Given the description of an element on the screen output the (x, y) to click on. 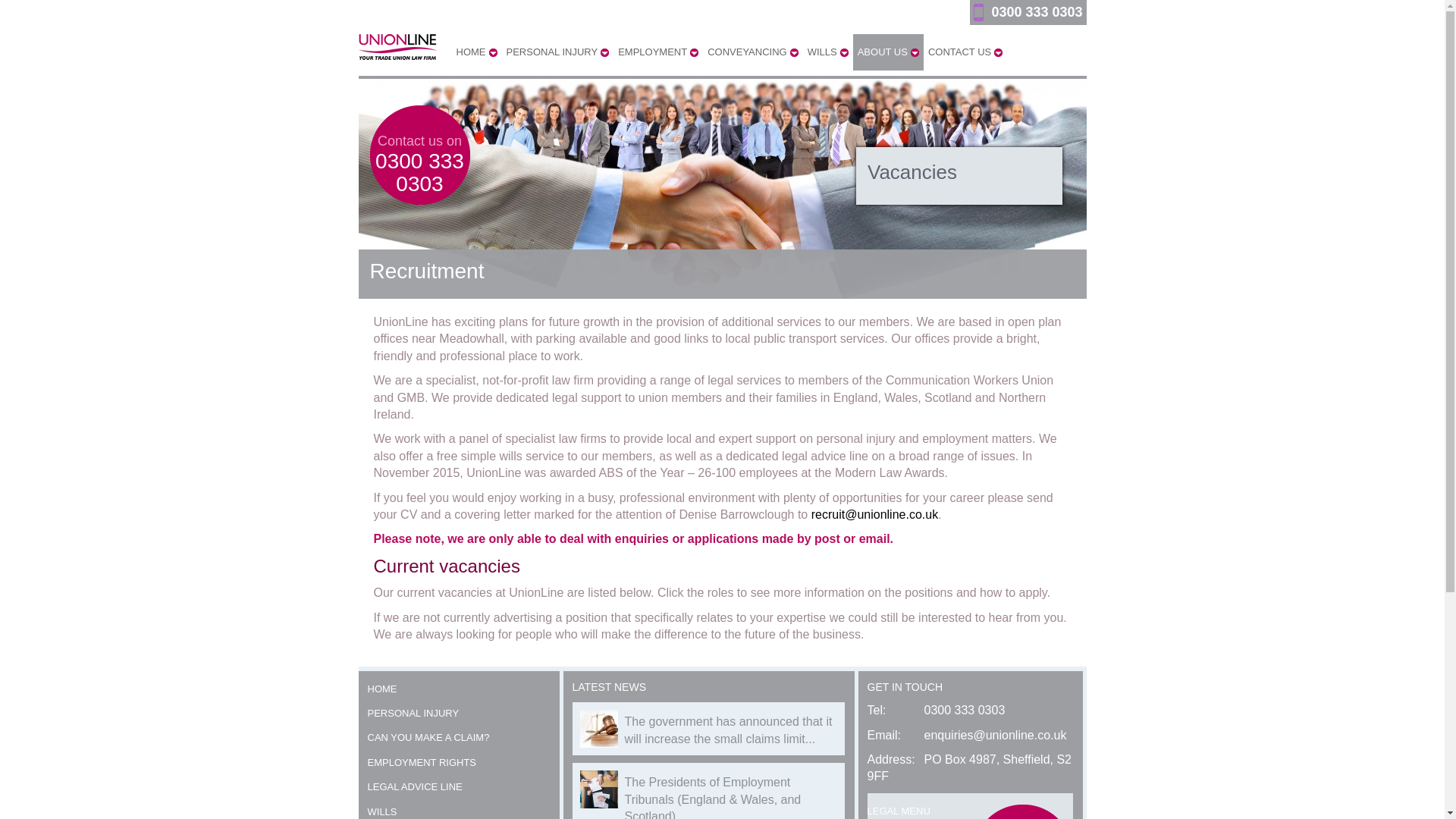
ABOUT US (888, 52)
HOME (476, 52)
WILLS (828, 52)
CONVEYANCING (753, 52)
PERSONAL INJURY (558, 52)
CONTACT US (965, 52)
EMPLOYMENT (657, 52)
